Given the description of an element on the screen output the (x, y) to click on. 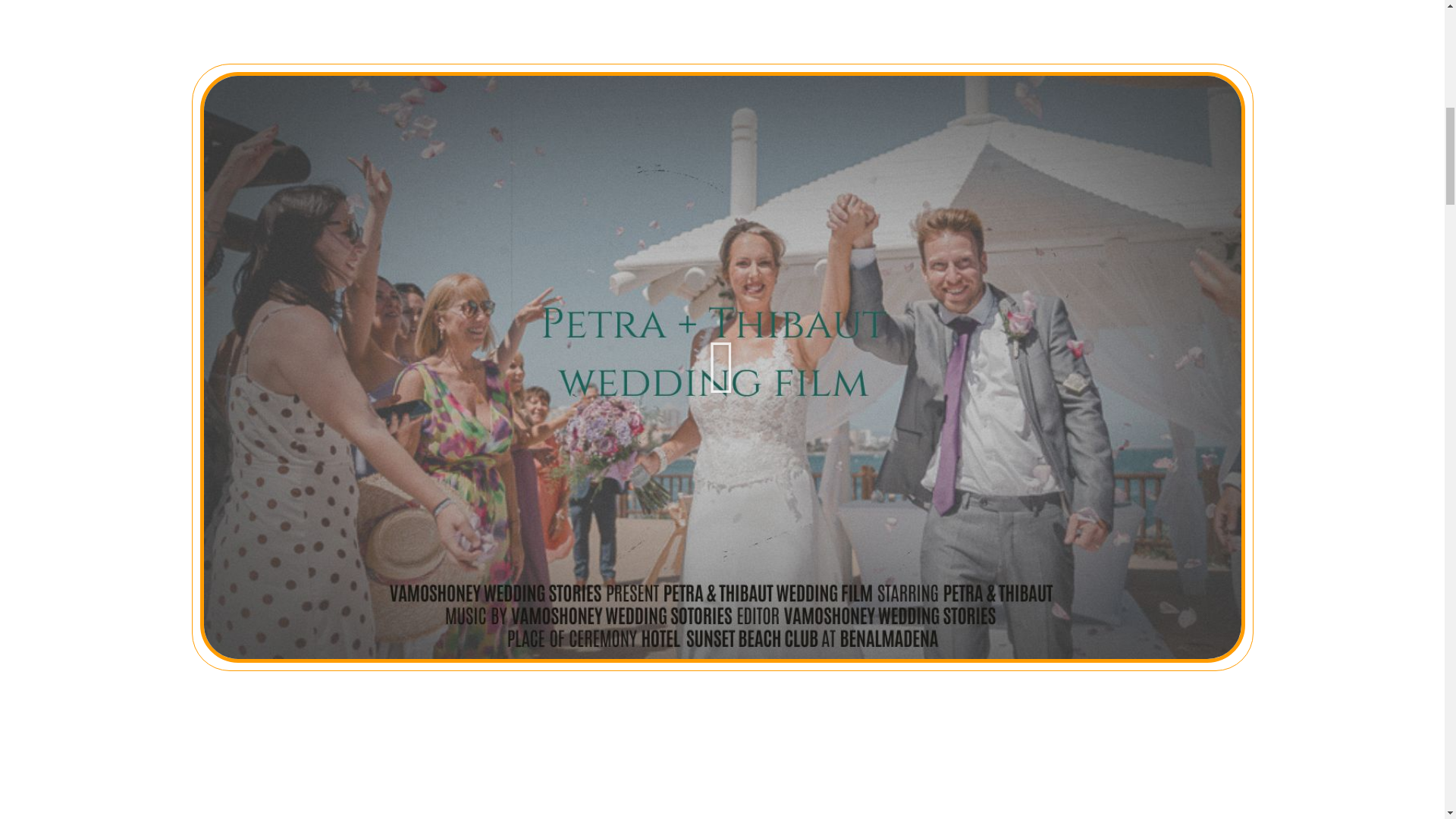
hotel Sunset Beach Club in Benalmadena. (924, 59)
